Given the description of an element on the screen output the (x, y) to click on. 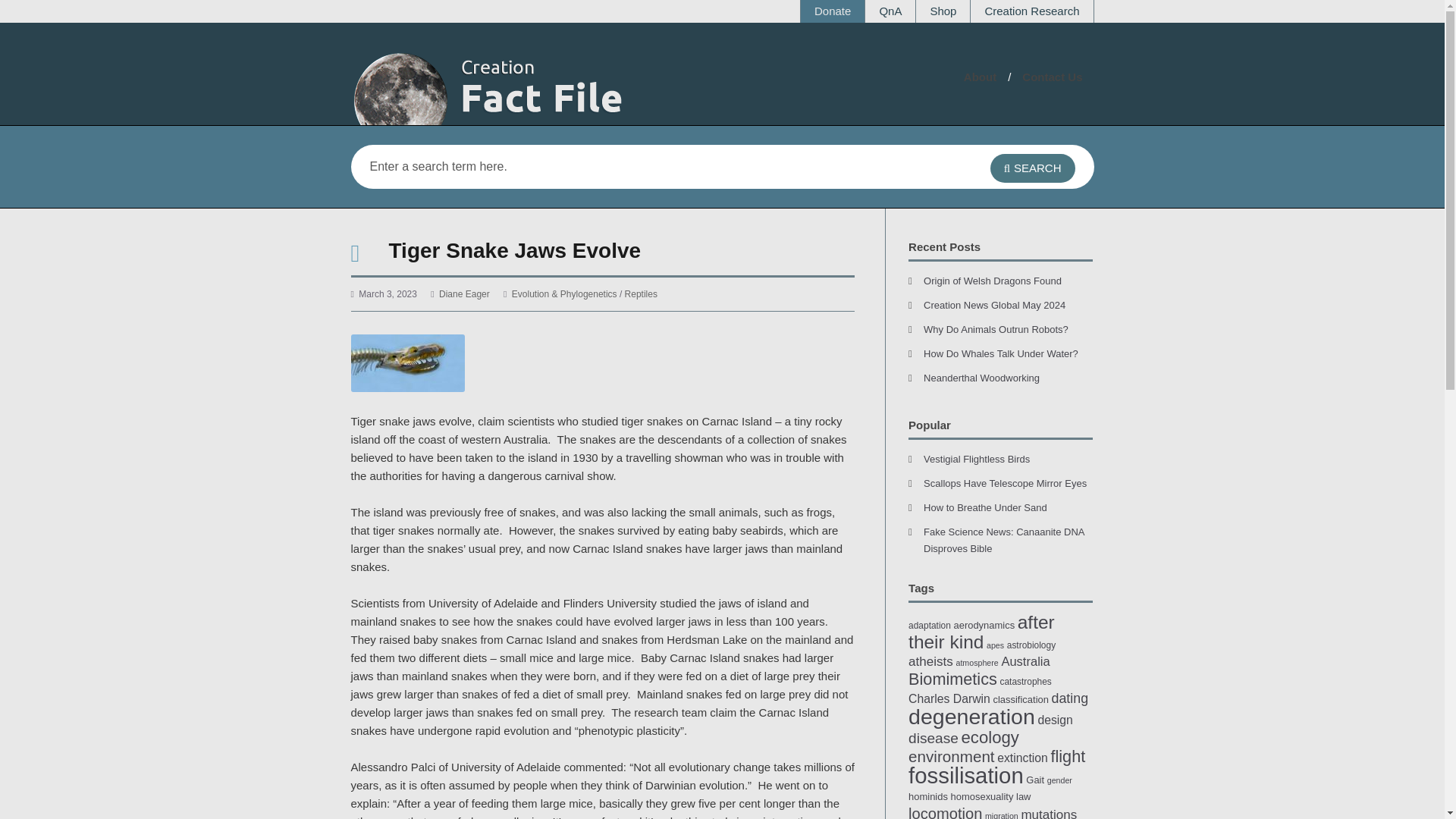
Neanderthal Woodworking (981, 378)
Scallops Have Telescope Mirror Eyes (1004, 482)
atmosphere (976, 662)
SEARCH (1032, 167)
Why Do Animals Outrun Robots? (995, 328)
Reptiles (641, 294)
How Do Whales Talk Under Water?  (1001, 353)
Shop (942, 11)
How to Breathe Under Sand (984, 507)
Creation News Global May 2024 (994, 305)
Origin of Welsh Dragons Found (992, 280)
Donate (832, 11)
after their kind (981, 631)
Vestigial Flightless Birds (976, 459)
Contact Us (1051, 76)
